Given the description of an element on the screen output the (x, y) to click on. 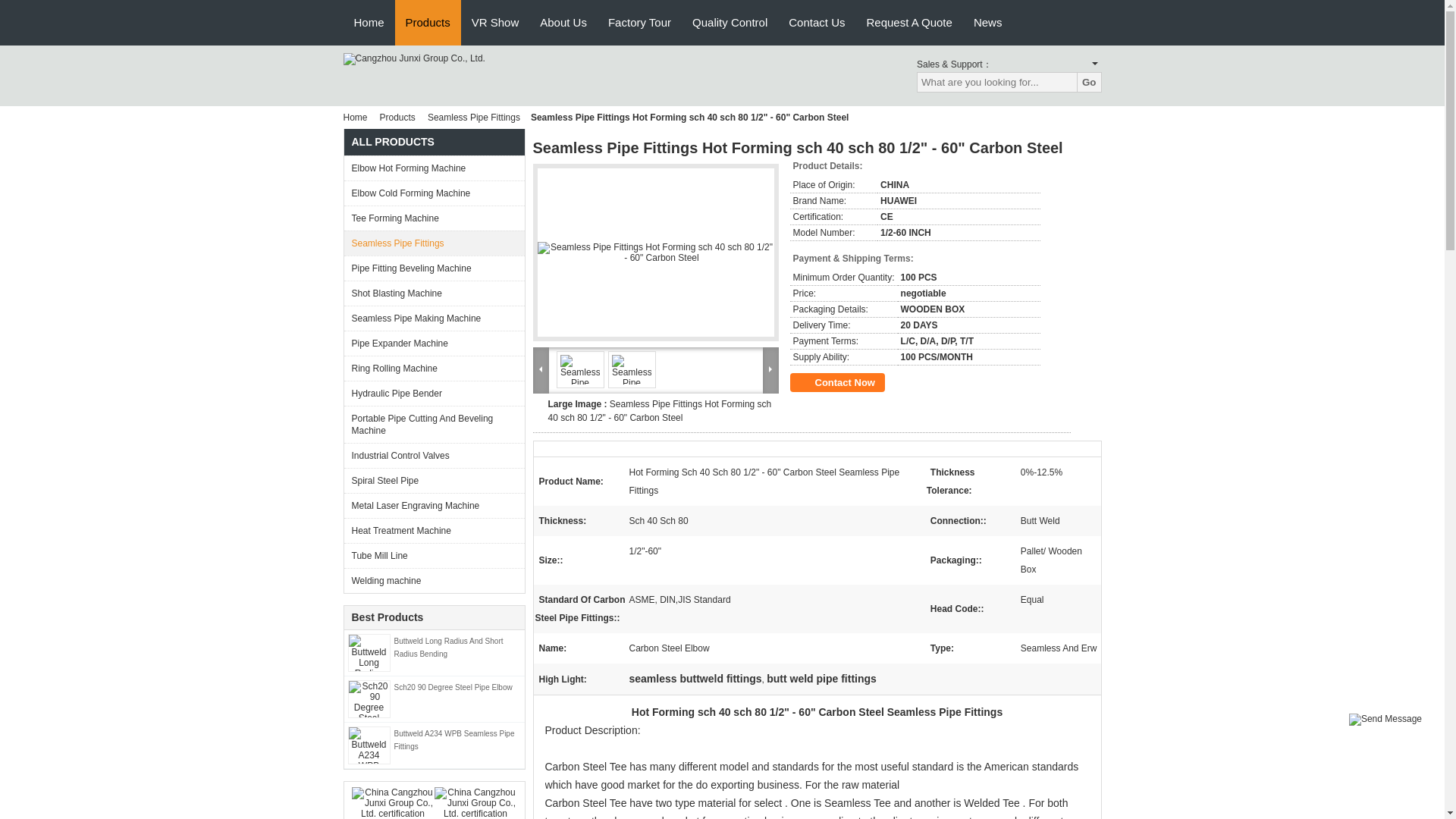
Go (1089, 82)
Quality Control (729, 22)
Seamless Pipe Fittings (433, 242)
Home (357, 117)
News (987, 22)
Elbow Hot Forming Machine (433, 167)
Factory Tour (638, 22)
Tee Forming Machine (433, 217)
Pipe Fitting Beveling Machine (433, 267)
Elbow Cold Forming Machine (433, 192)
